Given the description of an element on the screen output the (x, y) to click on. 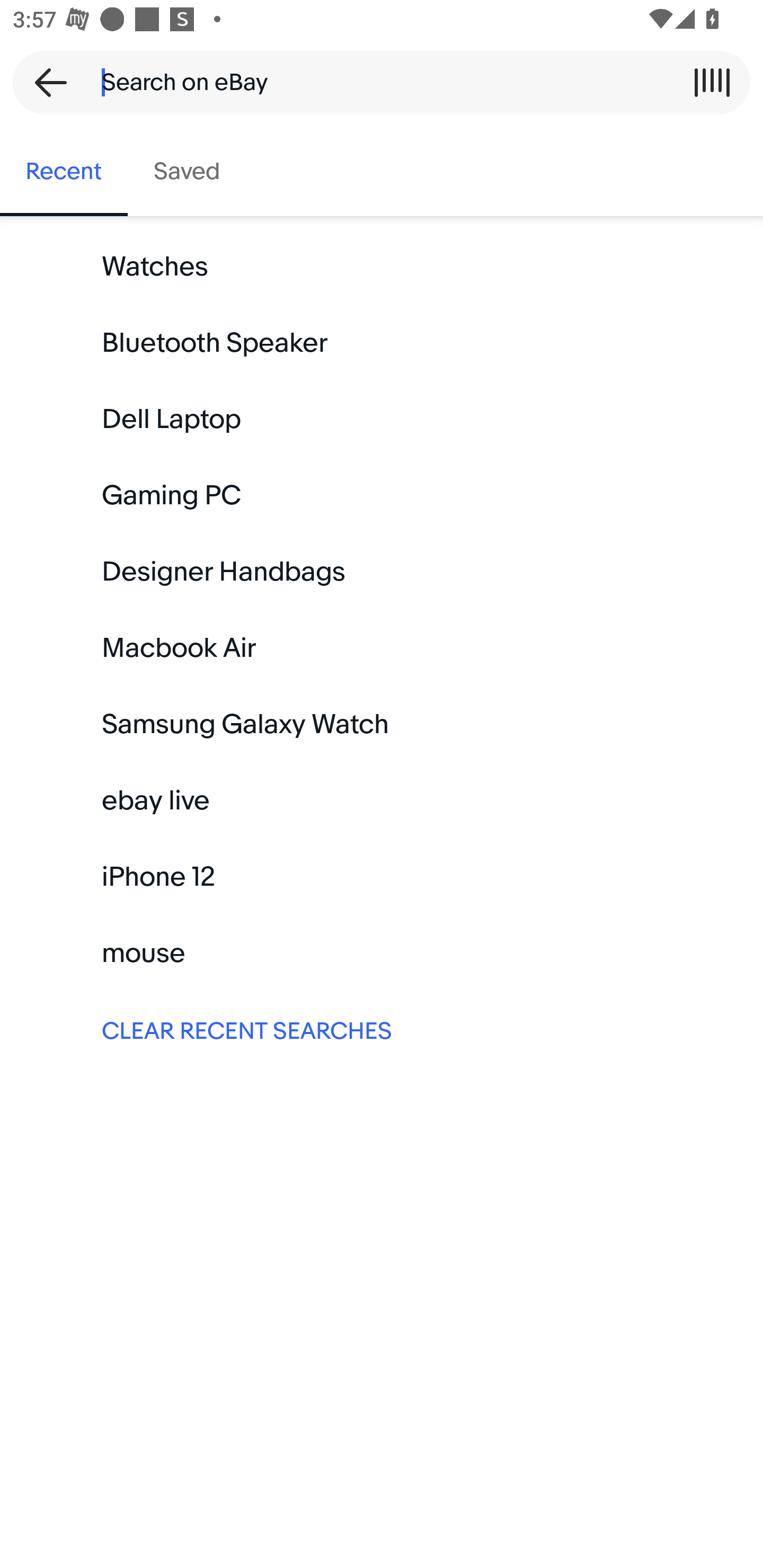
Back (44, 82)
Scan a barcode (711, 82)
Search on eBay (375, 82)
Saved, tab 2 of 2 Saved (186, 171)
Watches Keyword search Watches: (381, 266)
Dell Laptop Keyword search Dell Laptop: (381, 419)
Gaming PC Keyword search Gaming PC: (381, 495)
Macbook Air Keyword search Macbook Air: (381, 647)
ebay live Keyword search ebay live: (381, 800)
iPhone 12 Keyword search iPhone 12: (381, 876)
mouse Keyword search mouse: (381, 952)
CLEAR RECENT SEARCHES (381, 1028)
